Given the description of an element on the screen output the (x, y) to click on. 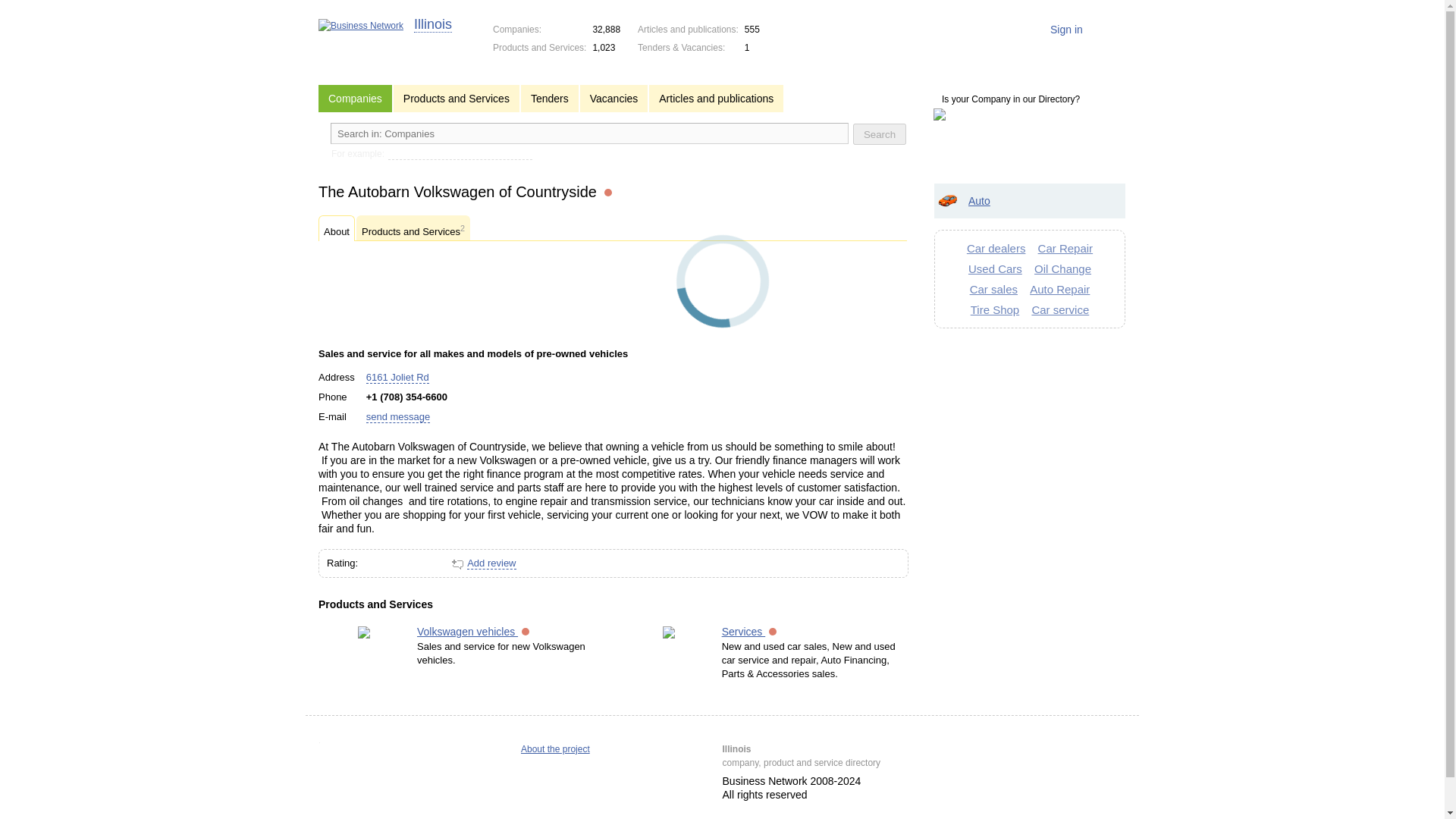
Used Cars (995, 268)
About (336, 227)
Search (879, 133)
Search (879, 133)
Car dealers (996, 247)
Car Repair (1065, 247)
Products and Services (458, 98)
Companies (357, 98)
Sign in (1074, 37)
Add review (491, 563)
